Given the description of an element on the screen output the (x, y) to click on. 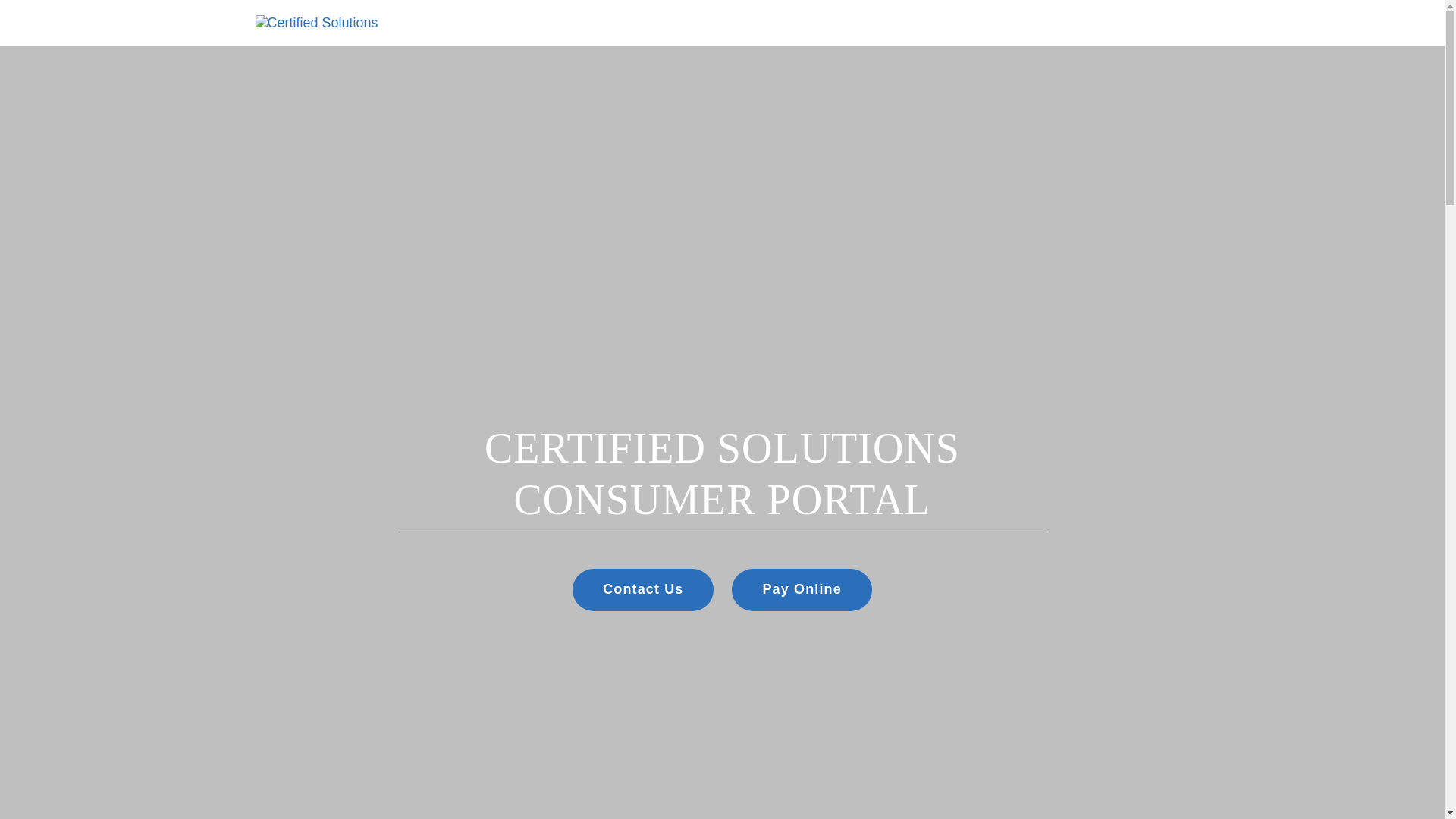
Certified Solutions (315, 22)
Contact Us (642, 589)
Pay Online (801, 589)
